Given the description of an element on the screen output the (x, y) to click on. 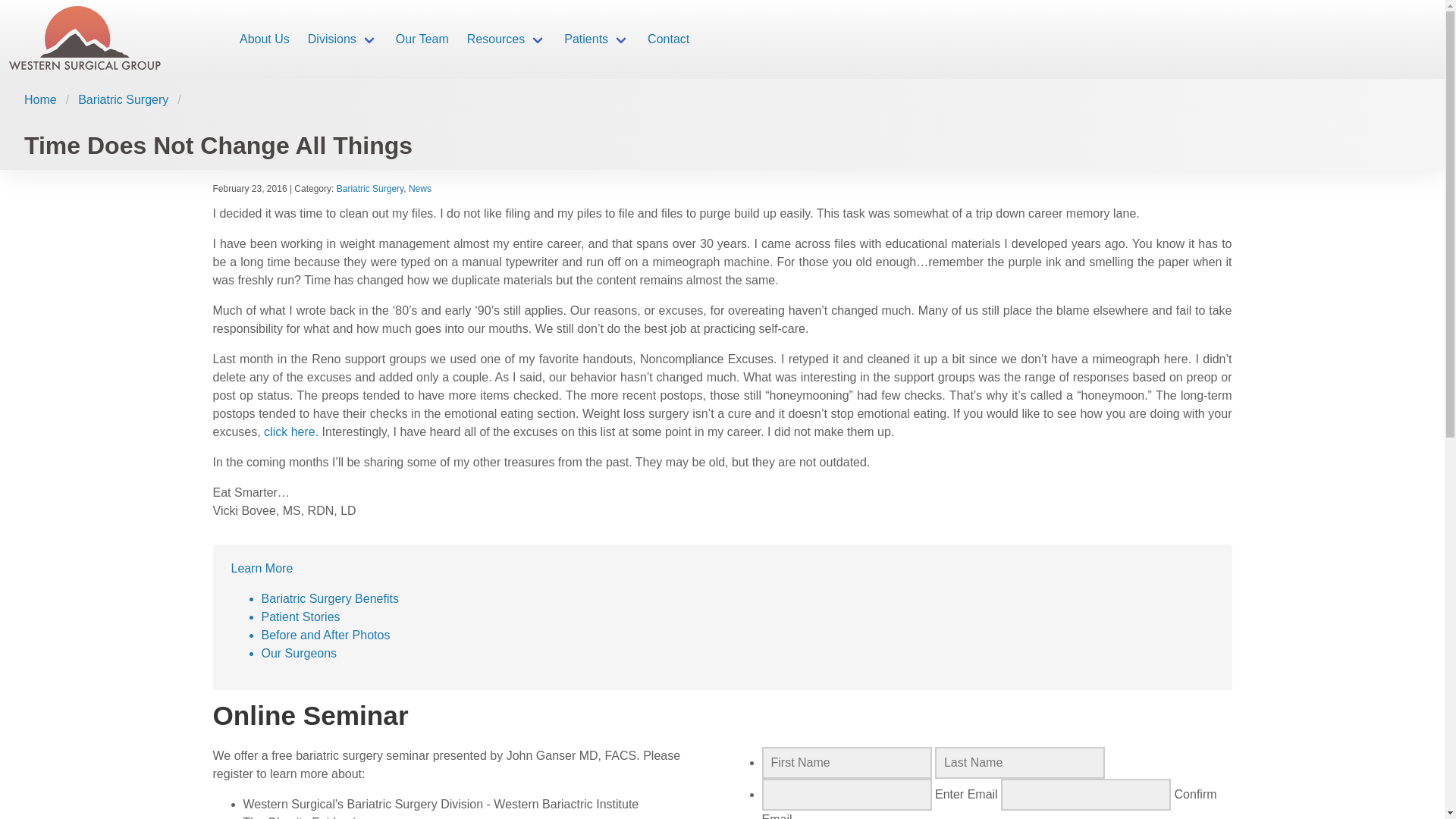
click here. (292, 431)
Our Team (422, 39)
Divisions (342, 39)
Resources (506, 39)
News (419, 188)
Bariatric Surgery (122, 99)
Home (44, 99)
Bariatric Surgery (369, 188)
Patients (596, 39)
